Given the description of an element on the screen output the (x, y) to click on. 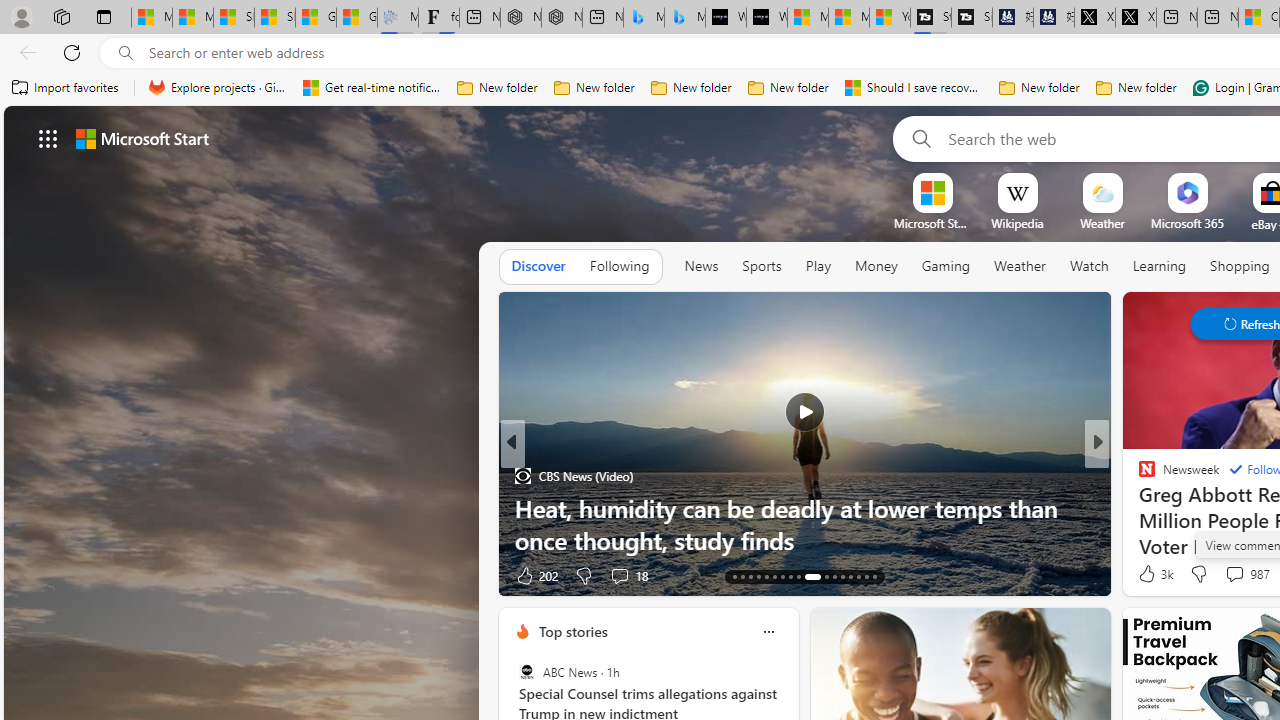
45 Like (1149, 574)
View comments 85 Comment (1229, 575)
Tab actions menu (104, 16)
AutomationID: tab-22 (812, 576)
FOX News (1138, 475)
View comments 2 Comment (1234, 574)
The Weather Channel (1138, 475)
View comments 251 Comment (11, 575)
CBS News (Video) (522, 475)
3k Like (1154, 574)
AutomationID: tab-27 (857, 576)
